Given the description of an element on the screen output the (x, y) to click on. 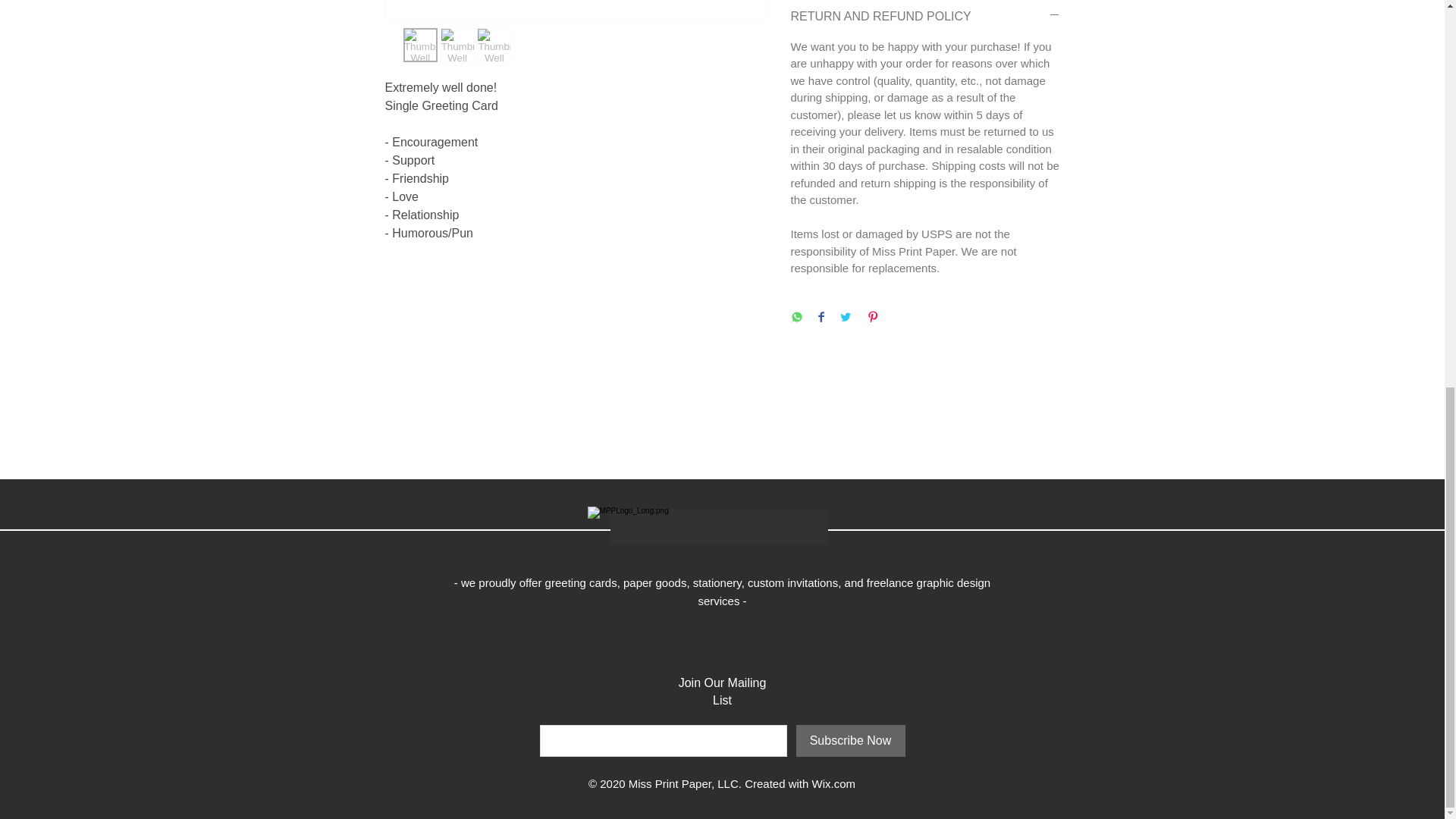
Subscribe Now (850, 740)
RETURN AND REFUND POLICY (924, 16)
Wix.com (834, 783)
